Given the description of an element on the screen output the (x, y) to click on. 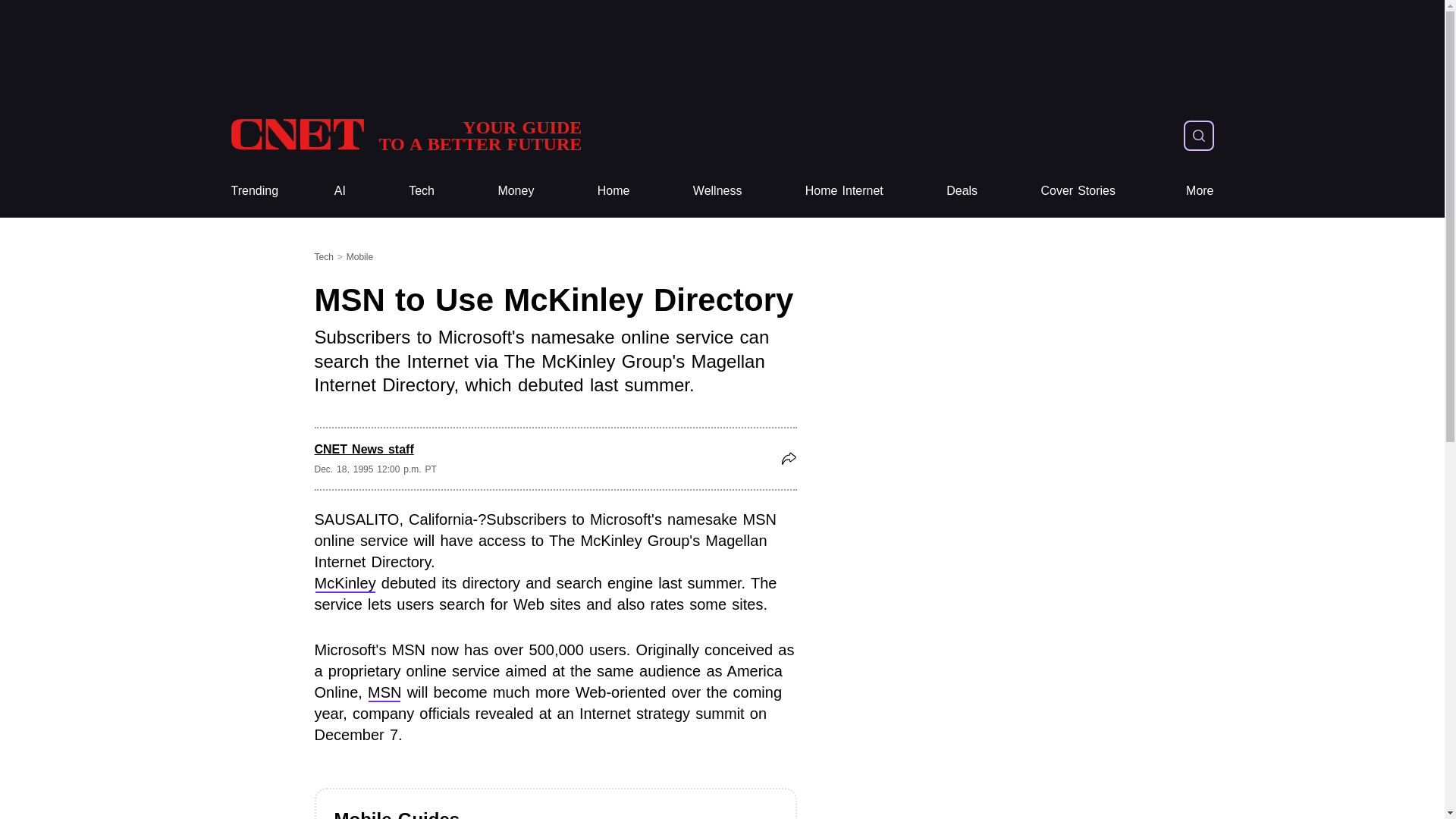
Money (515, 190)
CNET (405, 135)
Deals (961, 190)
Home (613, 190)
Tech (421, 190)
Wellness (717, 190)
Home Internet (844, 190)
Money (515, 190)
Trending (254, 190)
Home Internet (844, 190)
Trending (405, 135)
Home (254, 190)
Cover Stories (613, 190)
More (1078, 190)
